Given the description of an element on the screen output the (x, y) to click on. 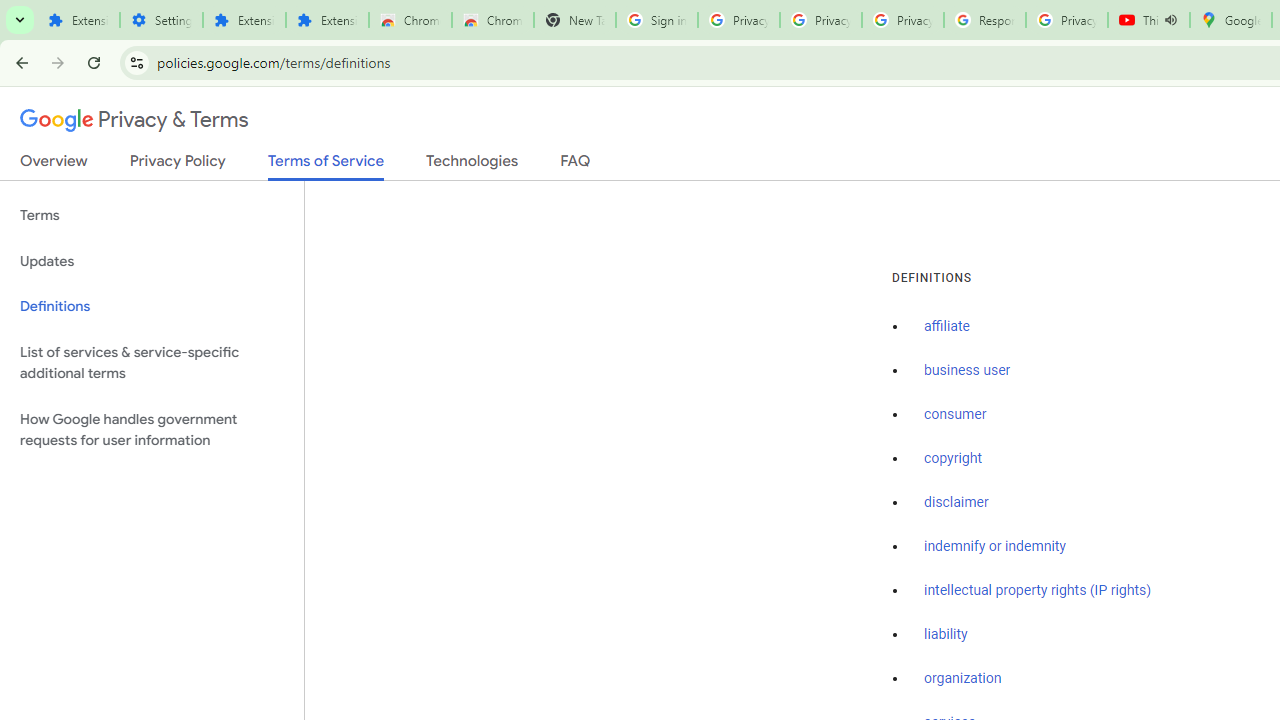
Privacy & Terms (134, 120)
consumer (955, 415)
Chrome Web Store - Themes (492, 20)
Extensions (244, 20)
affiliate (947, 327)
Extensions (326, 20)
Extensions (78, 20)
